Given the description of an element on the screen output the (x, y) to click on. 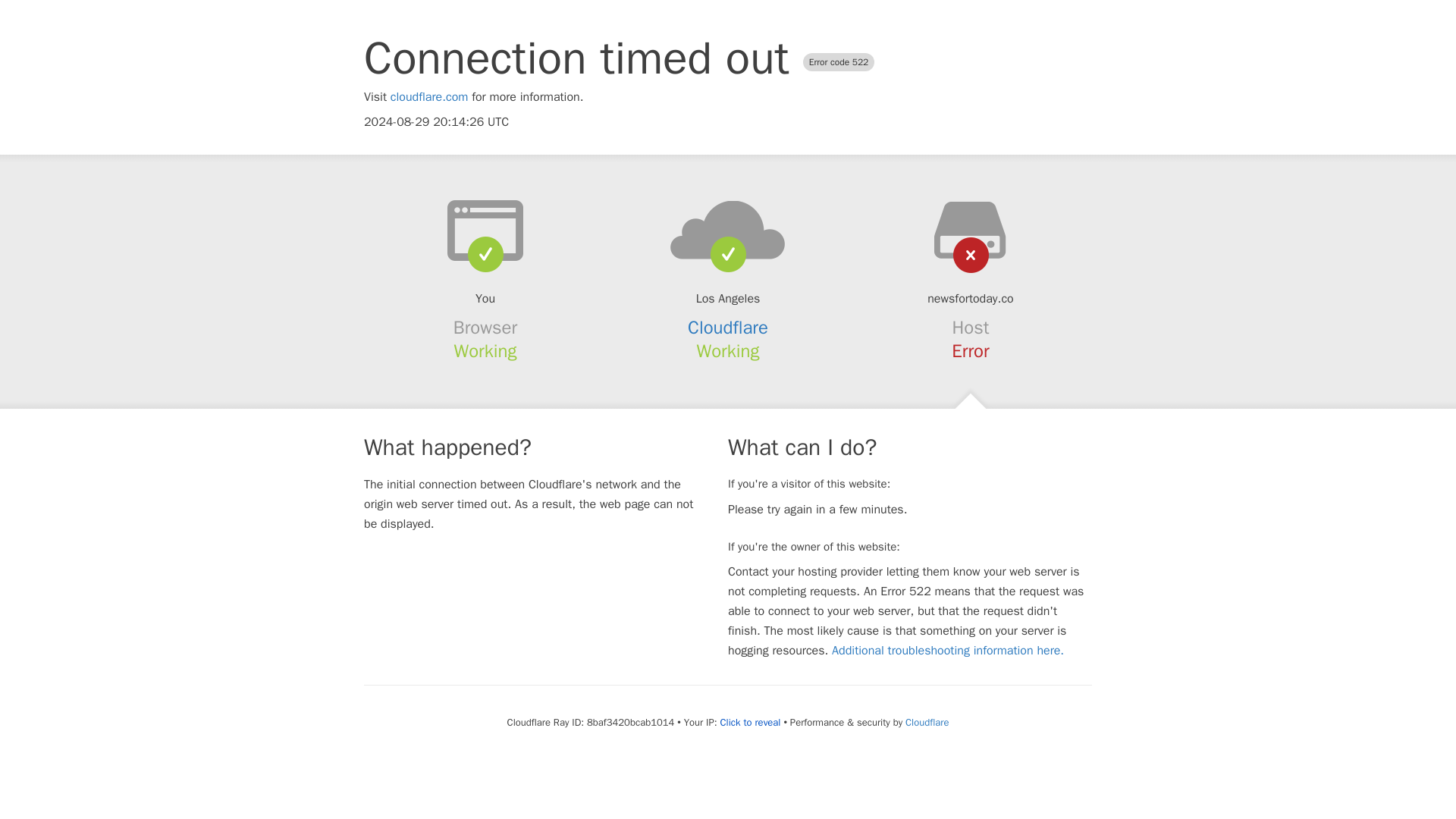
Cloudflare (927, 721)
cloudflare.com (429, 96)
Click to reveal (750, 722)
Additional troubleshooting information here. (947, 650)
Cloudflare (727, 327)
